Given the description of an element on the screen output the (x, y) to click on. 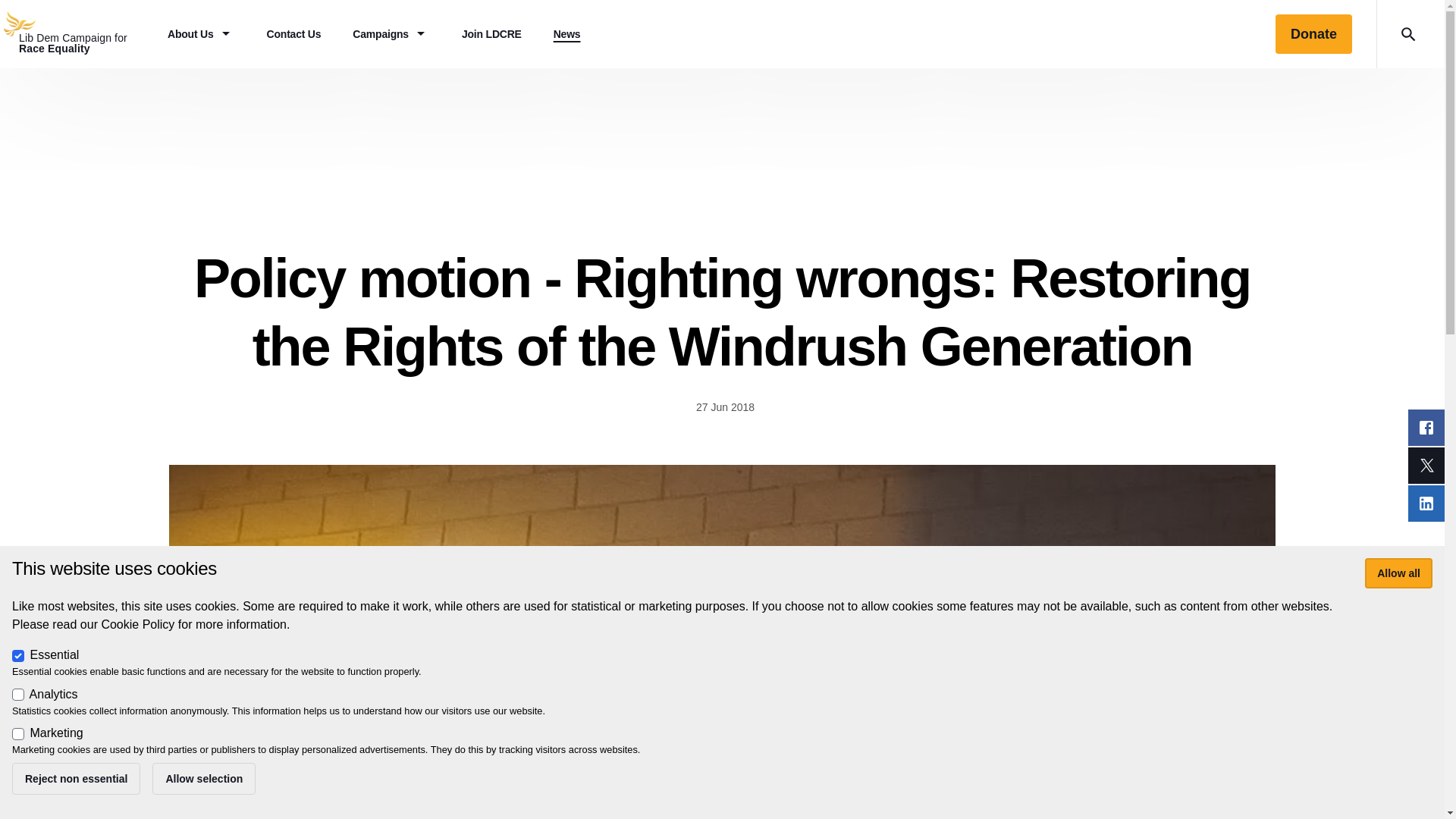
About Us (200, 33)
Reject non essential (75, 778)
Join LDCRE (491, 33)
Donate (1313, 34)
1 (17, 655)
1 (17, 694)
Allow all (1398, 572)
Reject non essential (75, 778)
Return to home page (75, 33)
Allow selection (204, 778)
